Given the description of an element on the screen output the (x, y) to click on. 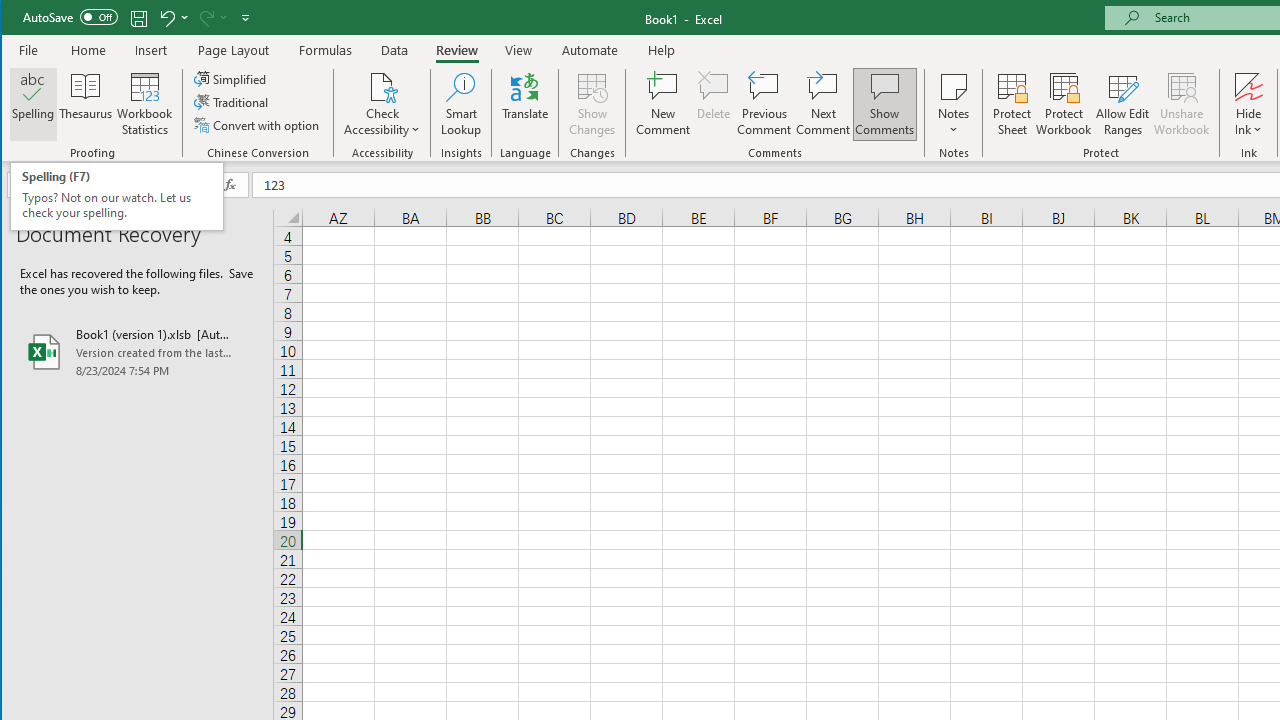
Traditional (232, 101)
Hide Ink (1248, 86)
Protect Sheet... (1012, 104)
Translate (525, 104)
Allow Edit Ranges (1123, 104)
Thesaurus... (86, 104)
Show Changes (592, 104)
Notes (954, 104)
New Comment (662, 104)
